Given the description of an element on the screen output the (x, y) to click on. 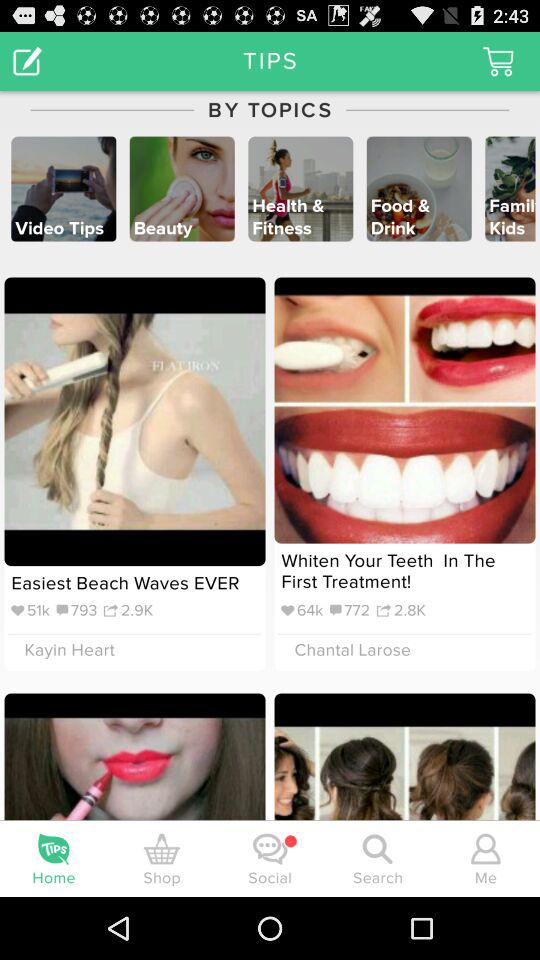
turn off the item next to the by topics item (27, 60)
